Given the description of an element on the screen output the (x, y) to click on. 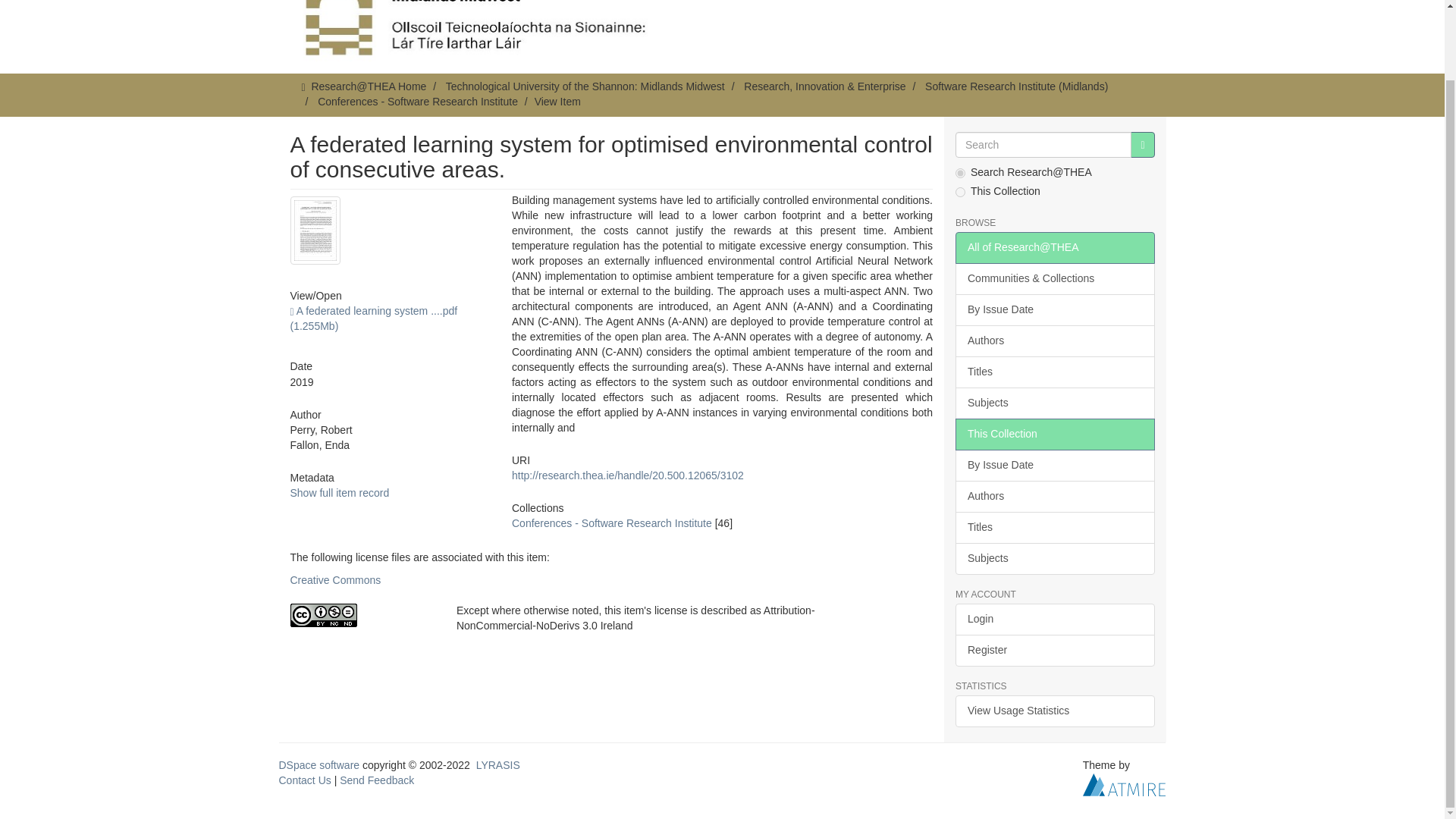
By Issue Date (1054, 309)
Go (1142, 144)
Technological University of the Shannon: Midlands Midwest (585, 86)
Show full item record (338, 492)
Conferences - Software Research Institute (417, 101)
Authors (1054, 496)
By Issue Date (1054, 465)
Authors (1054, 341)
Creative Commons (334, 580)
Conferences - Software Research Institute (611, 522)
